Given the description of an element on the screen output the (x, y) to click on. 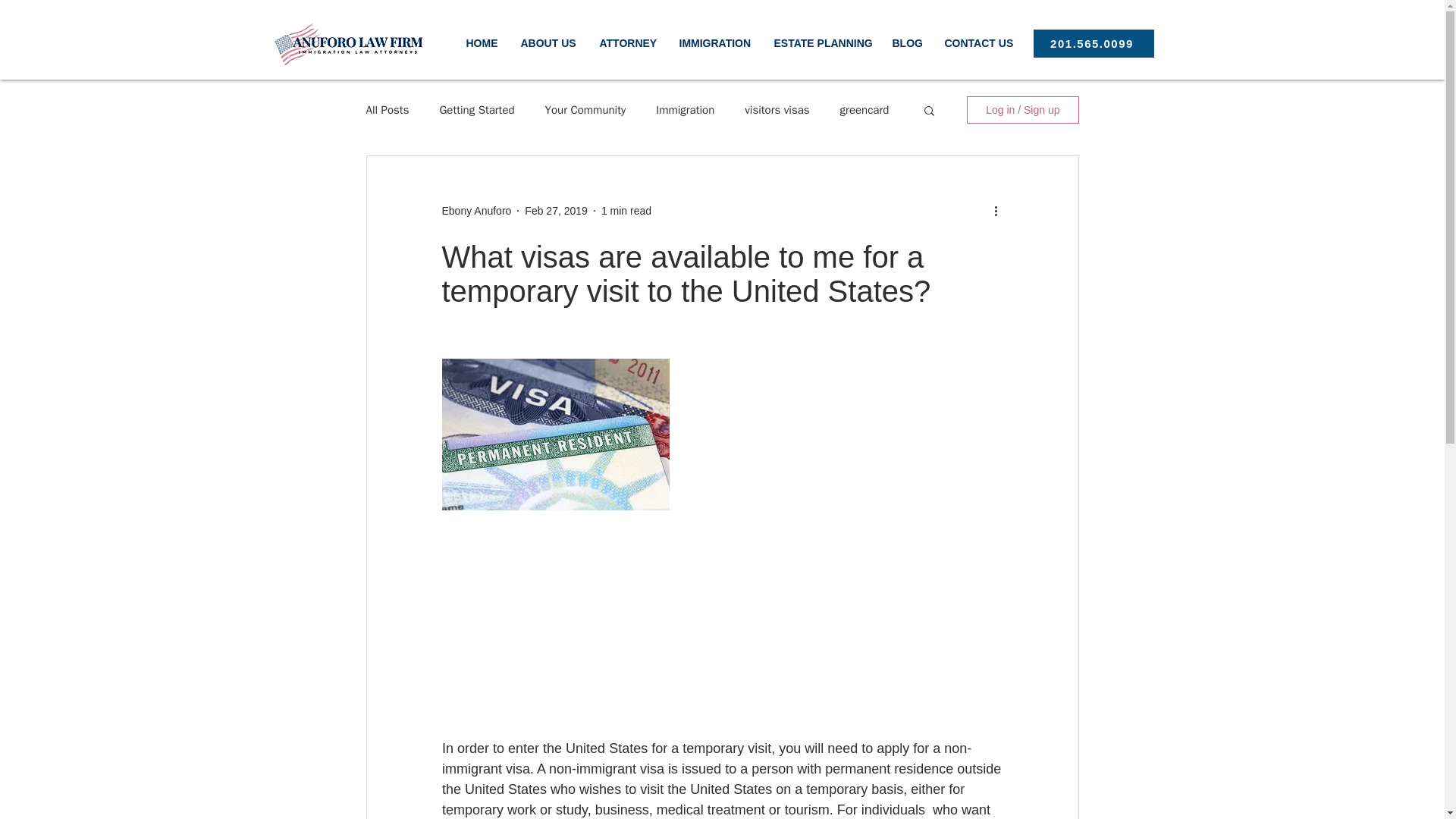
All Posts (387, 110)
visitors visas (776, 110)
greencard (864, 110)
HOME (481, 43)
Immigration (685, 110)
BLOG (906, 43)
IMMIGRATION (713, 43)
Your Community (585, 110)
Feb 27, 2019 (556, 210)
ATTORNEY (628, 43)
